Given the description of an element on the screen output the (x, y) to click on. 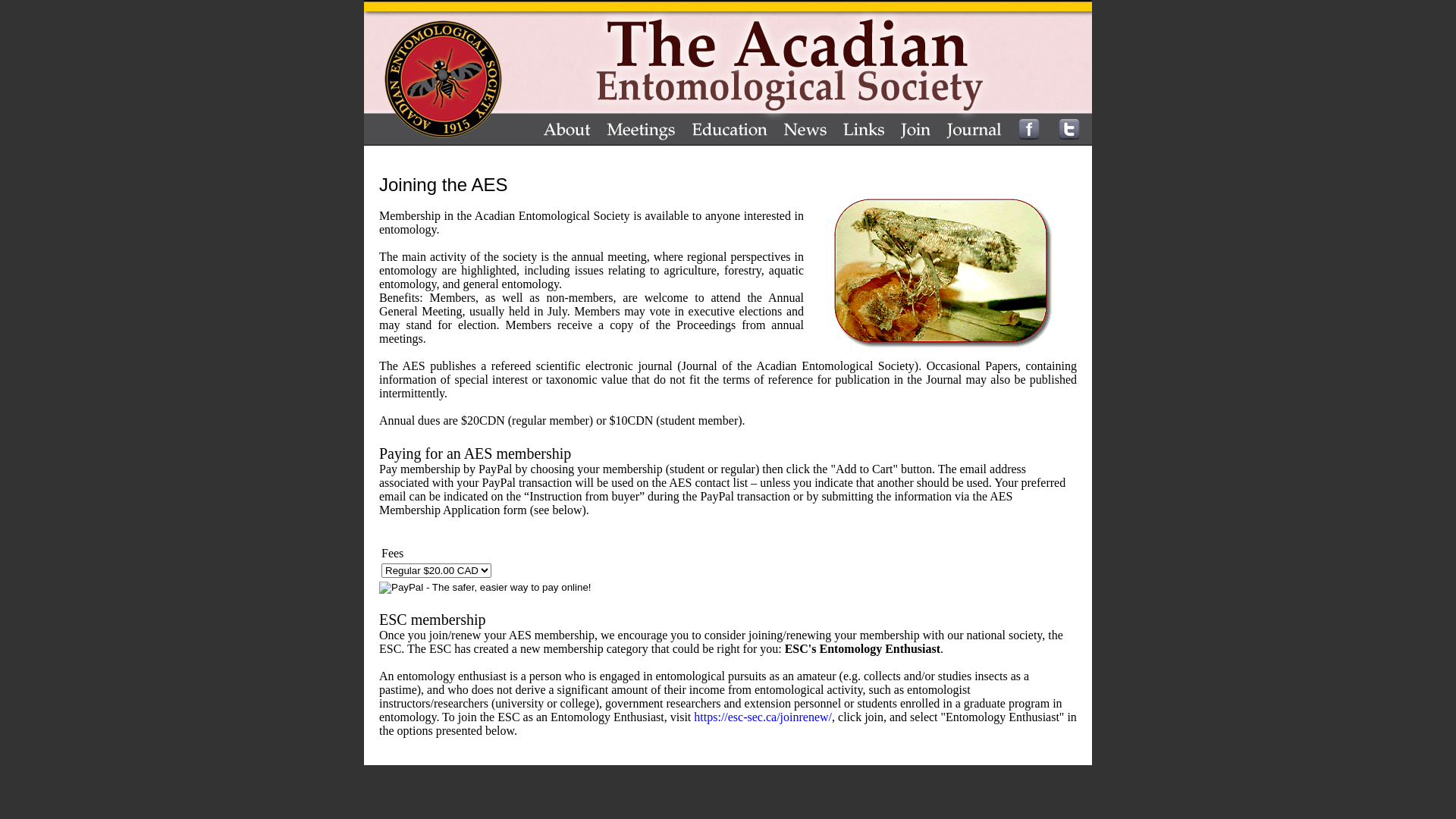
home page Element type: hover (448, 72)
https://esc-sec.ca/joinrenew/ Element type: text (762, 716)
